Given the description of an element on the screen output the (x, y) to click on. 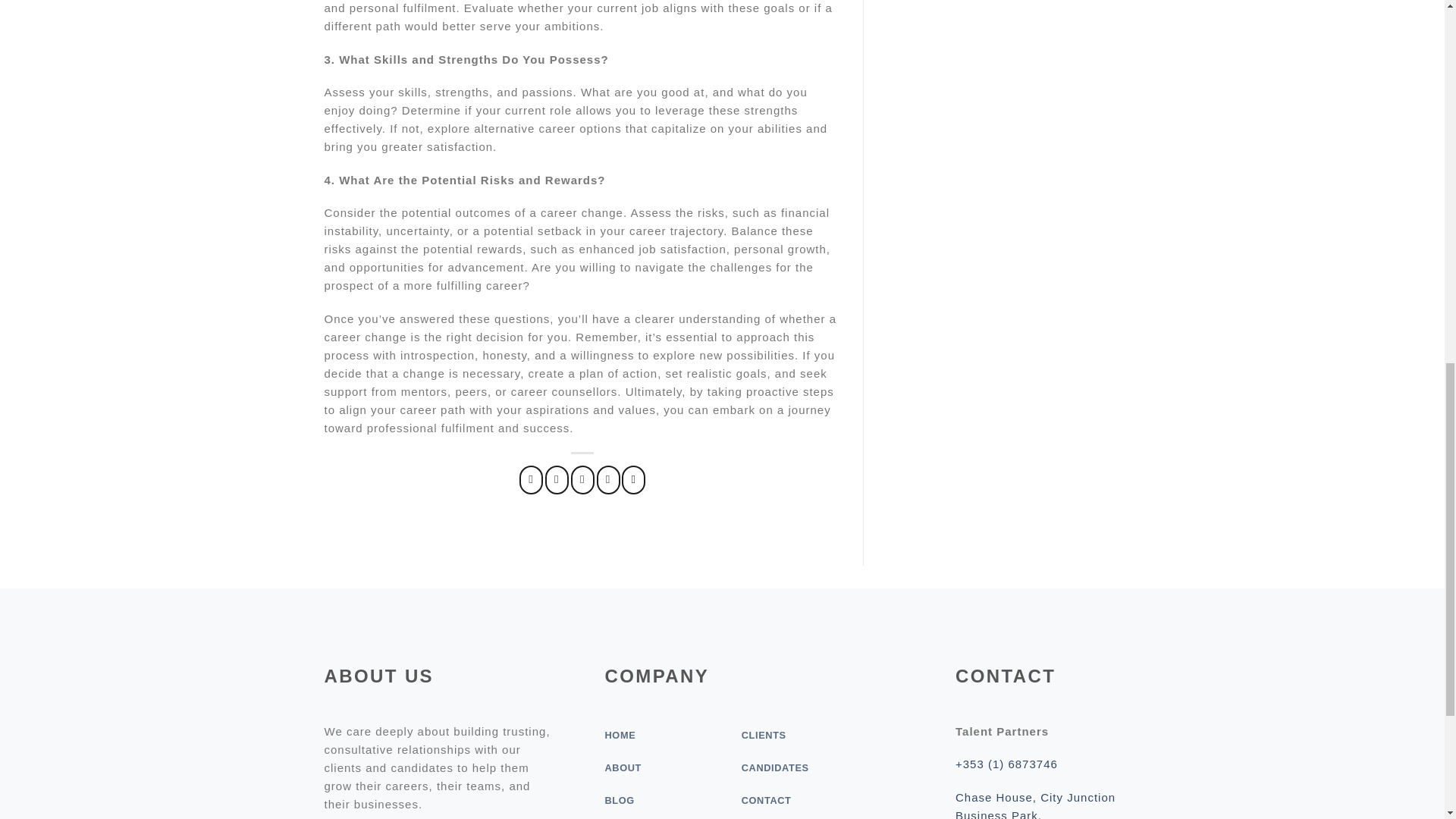
HOME (619, 735)
BLOG (618, 799)
CLIENTS (763, 735)
CONTACT (766, 799)
CANDIDATES (775, 767)
ABOUT (623, 767)
